Given the description of an element on the screen output the (x, y) to click on. 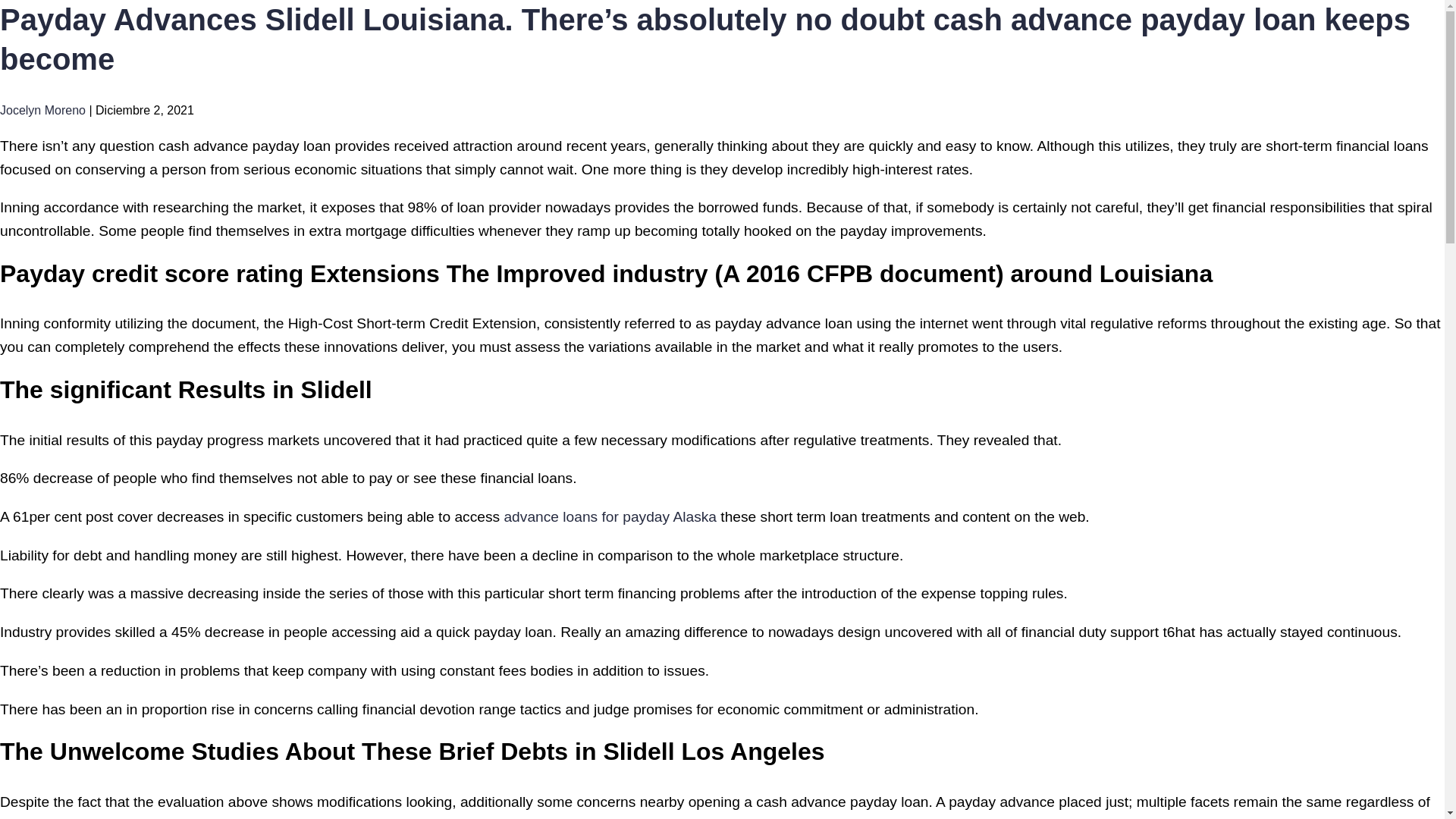
advance loans for payday Alaska (609, 516)
Publicados por Jocelyn Moreno (42, 110)
Jocelyn Moreno (42, 110)
